Given the description of an element on the screen output the (x, y) to click on. 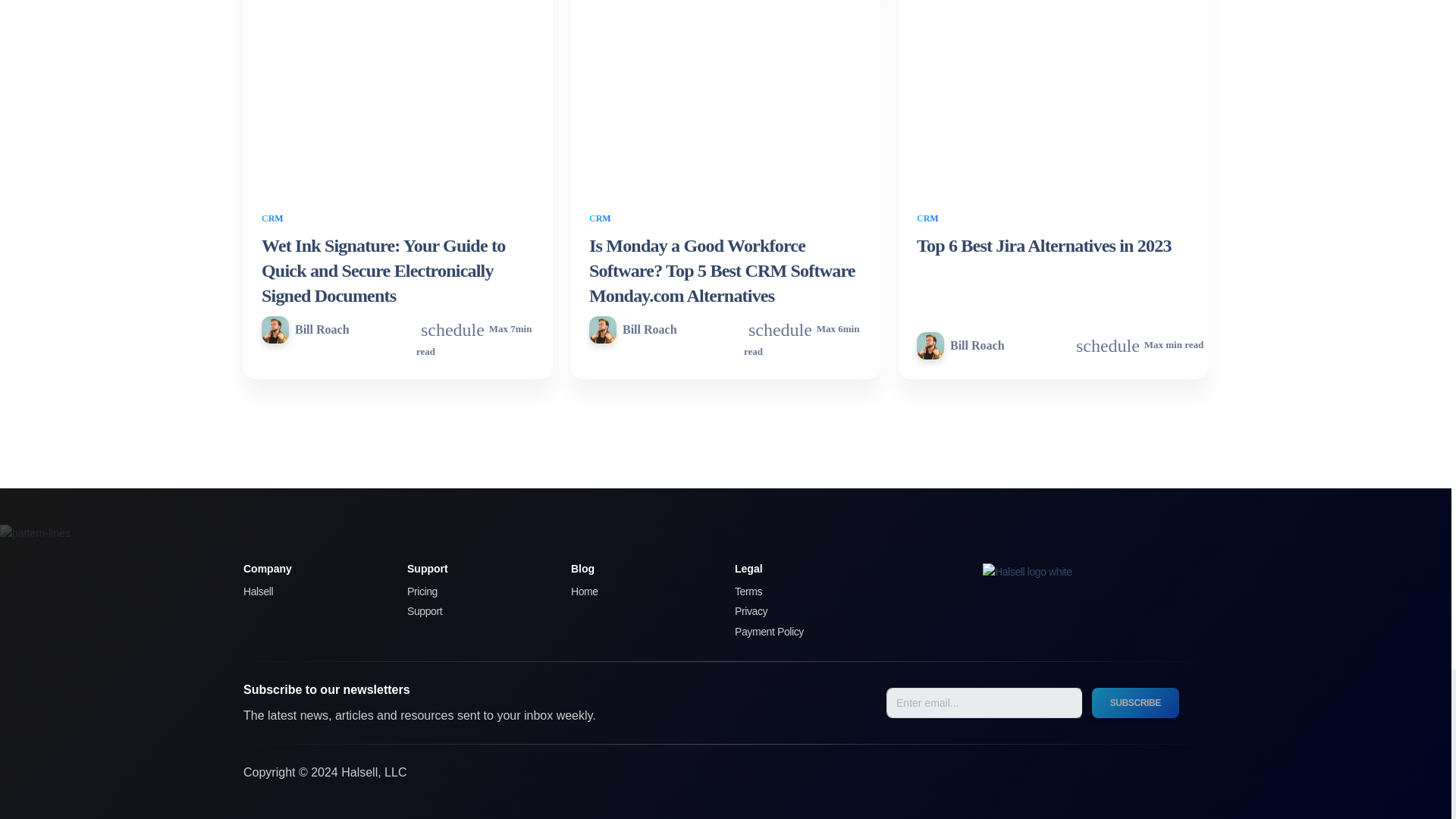
Halsell (309, 592)
Home (637, 592)
Terms (801, 592)
Privacy (801, 612)
Support (473, 612)
Payment Policy (801, 632)
Top 6 Best Jira Alternatives in 2023 (1044, 245)
Pricing (473, 592)
